Given the description of an element on the screen output the (x, y) to click on. 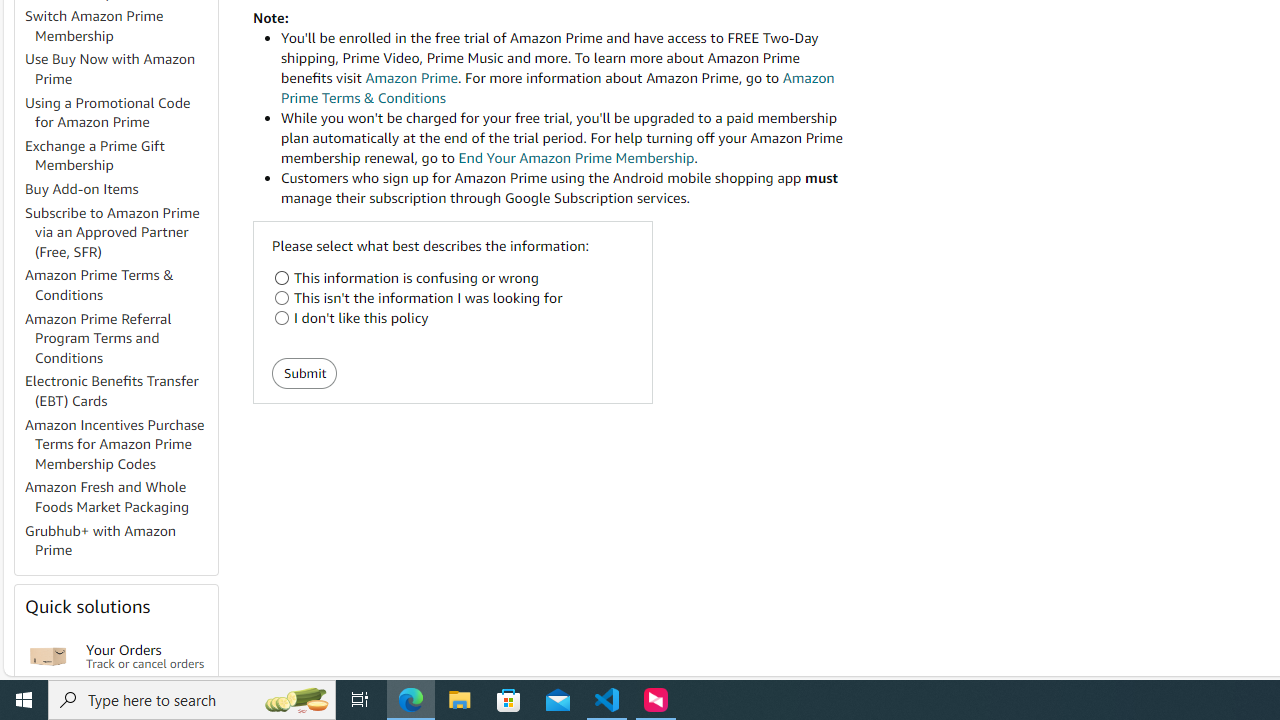
Electronic Benefits Transfer (EBT) Cards (120, 391)
Use Buy Now with Amazon Prime (110, 69)
Amazon Fresh and Whole Foods Market Packaging (107, 497)
Exchange a Prime Gift Membership (95, 155)
Amazon Prime (411, 78)
Using a Promotional Code for Amazon Prime (120, 112)
Use Buy Now with Amazon Prime (120, 69)
Electronic Benefits Transfer (EBT) Cards (111, 390)
Your Orders Track or cancel orders (145, 656)
Amazon Fresh and Whole Foods Market Packaging (120, 497)
Your Orders (48, 655)
Your Orders (48, 655)
Using a Promotional Code for Amazon Prime (107, 111)
